Given the description of an element on the screen output the (x, y) to click on. 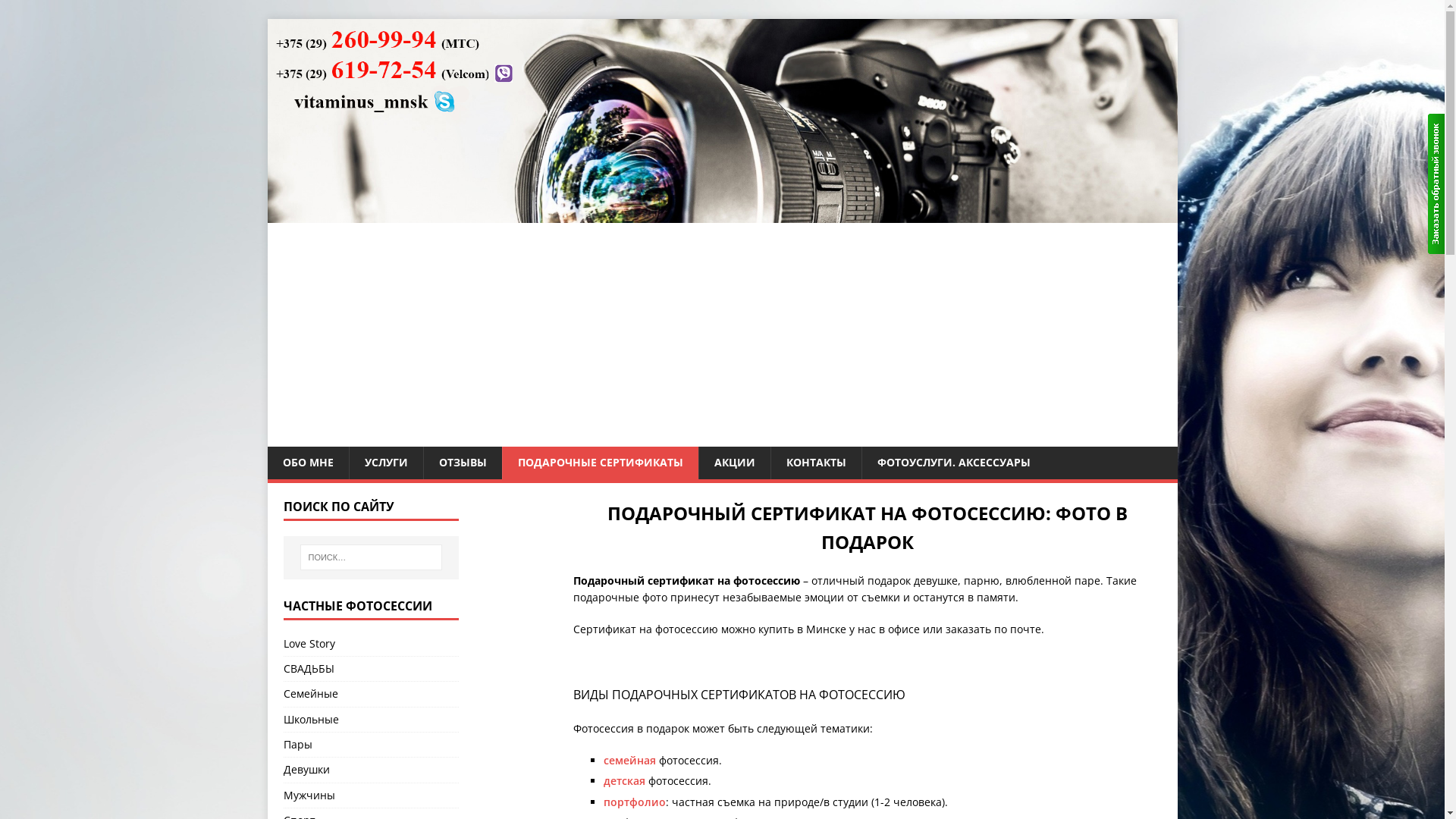
Advertisement Element type: hover (721, 332)
Love Story Element type: text (371, 645)
